Given the description of an element on the screen output the (x, y) to click on. 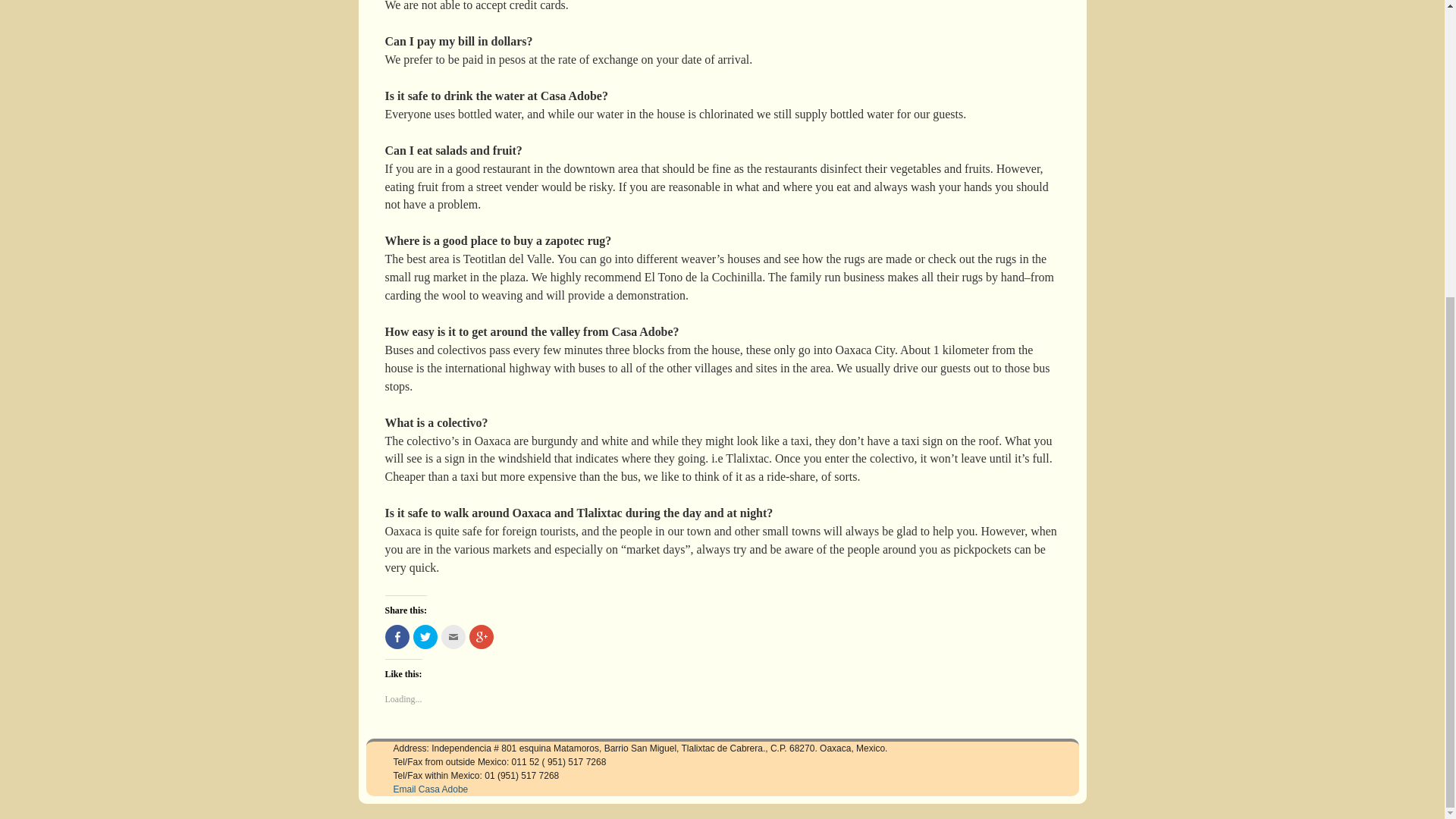
Click to share on Twitter (424, 636)
Share on Facebook (397, 636)
Click to email this to a friend (453, 636)
Email Casa Adobe (430, 788)
